Given the description of an element on the screen output the (x, y) to click on. 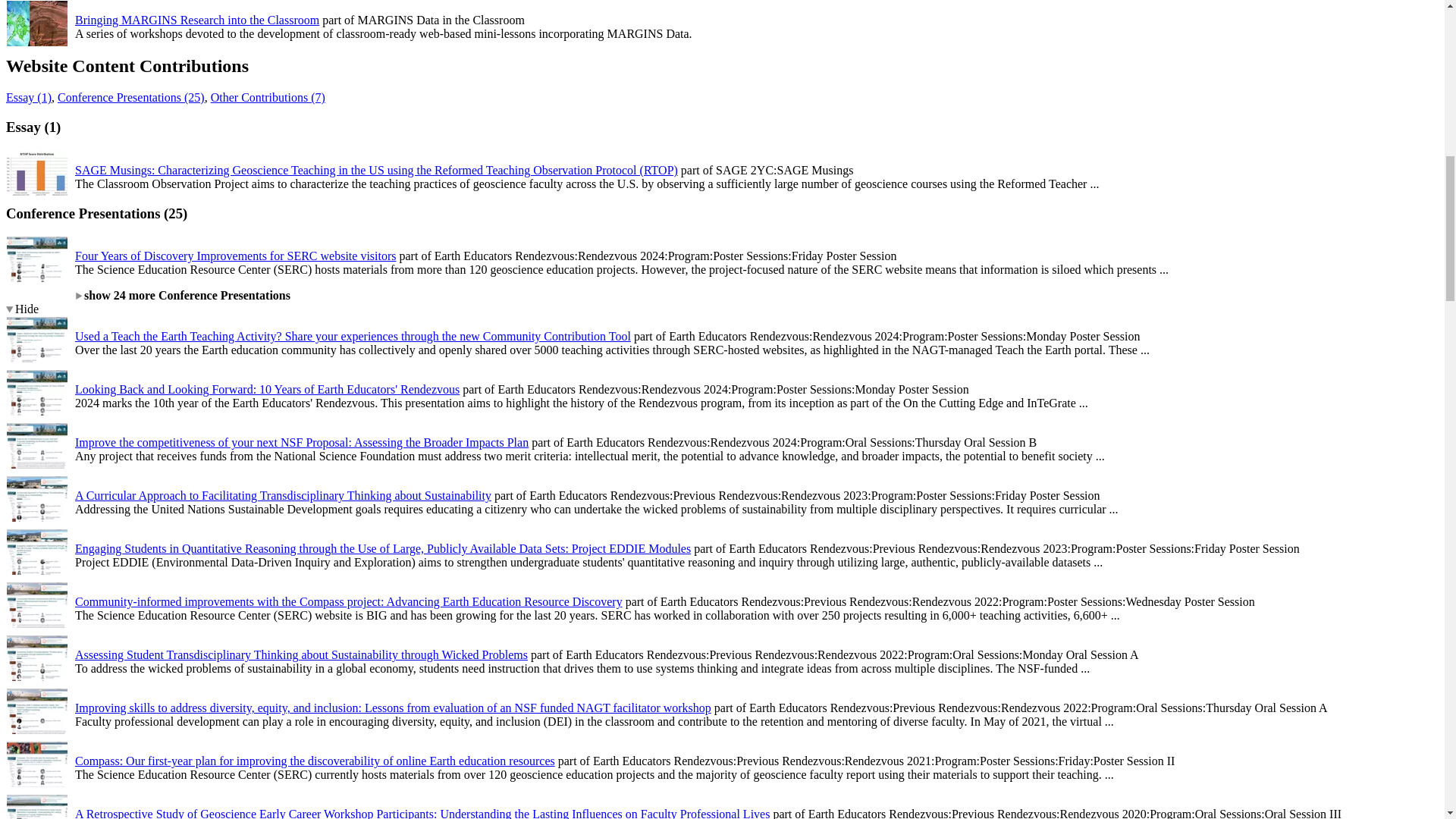
Hide (22, 308)
show 24 more Conference Presentations (182, 295)
Bringing MARGINS Research into the Classroom (196, 19)
